Given the description of an element on the screen output the (x, y) to click on. 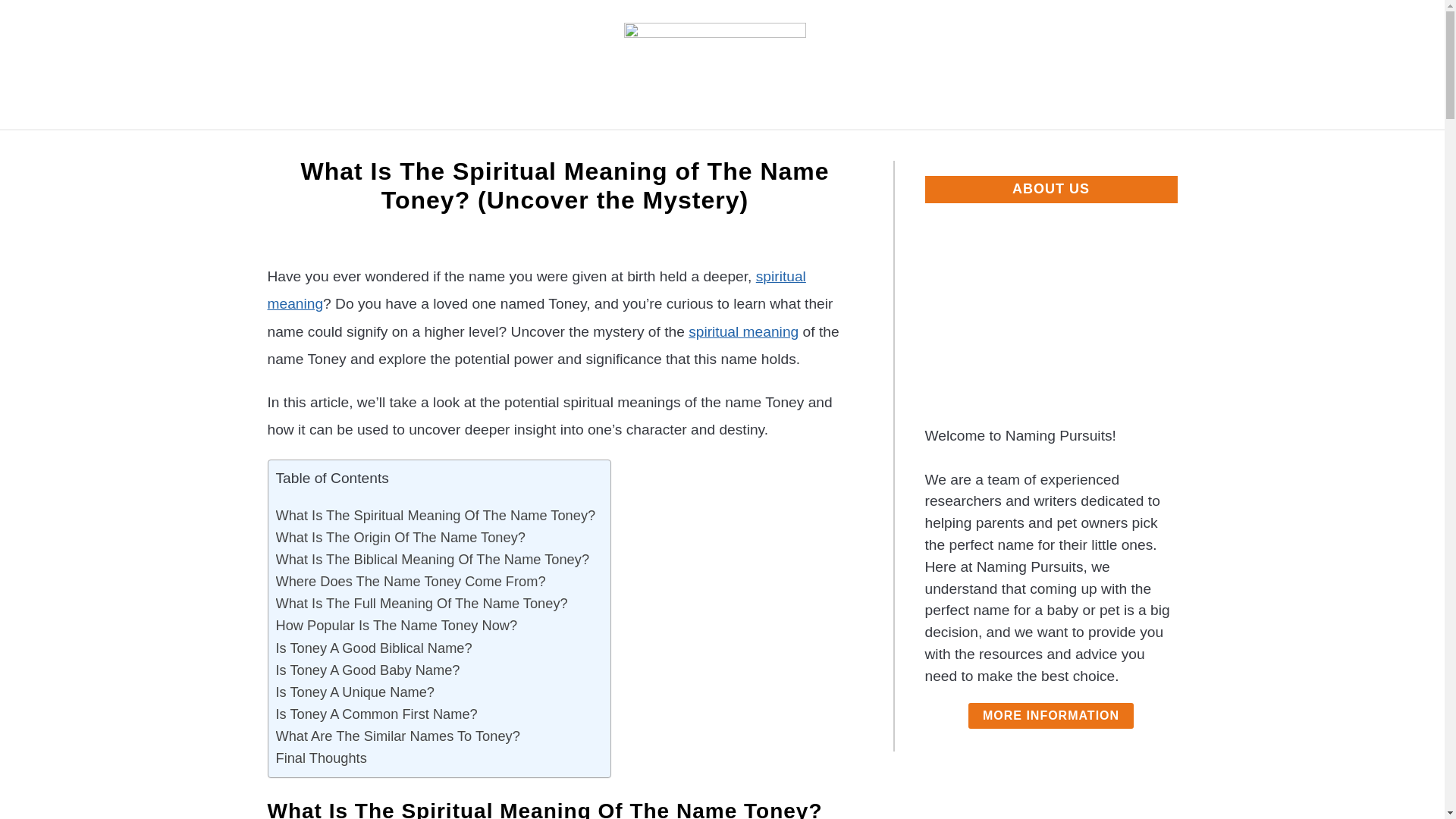
Is Toney A Good Baby Name? (368, 669)
What Are The Similar Names To Toney? (397, 735)
CONTACT (939, 147)
Where Does The Name Toney Come From? (411, 581)
What Is The Spiritual Meaning Of The Name Toney? (435, 515)
Is Toney A Common First Name? (376, 713)
MORE INFORMATION (1051, 715)
Final Thoughts (321, 757)
How Popular Is The Name Toney Now? (397, 625)
What Is The Spiritual Meaning Of The Name Toney? (435, 515)
Is Toney A Good Biblical Name? (373, 648)
What Is The Origin Of The Name Toney? (400, 536)
spiritual meaning (535, 290)
Final Thoughts (321, 757)
spiritual meaning (742, 331)
